Given the description of an element on the screen output the (x, y) to click on. 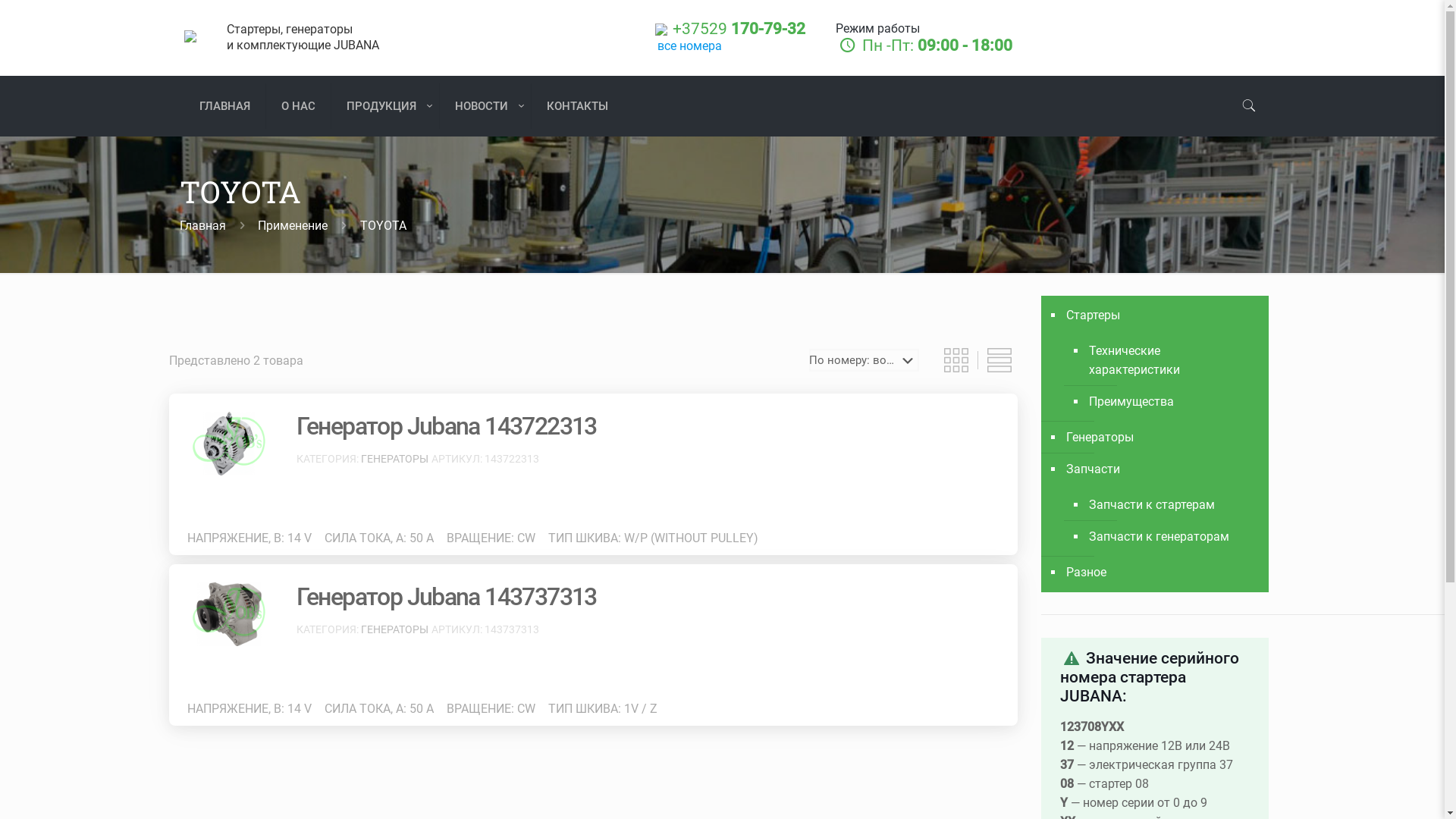
JUBANA Element type: hover (189, 37)
